Given the description of an element on the screen output the (x, y) to click on. 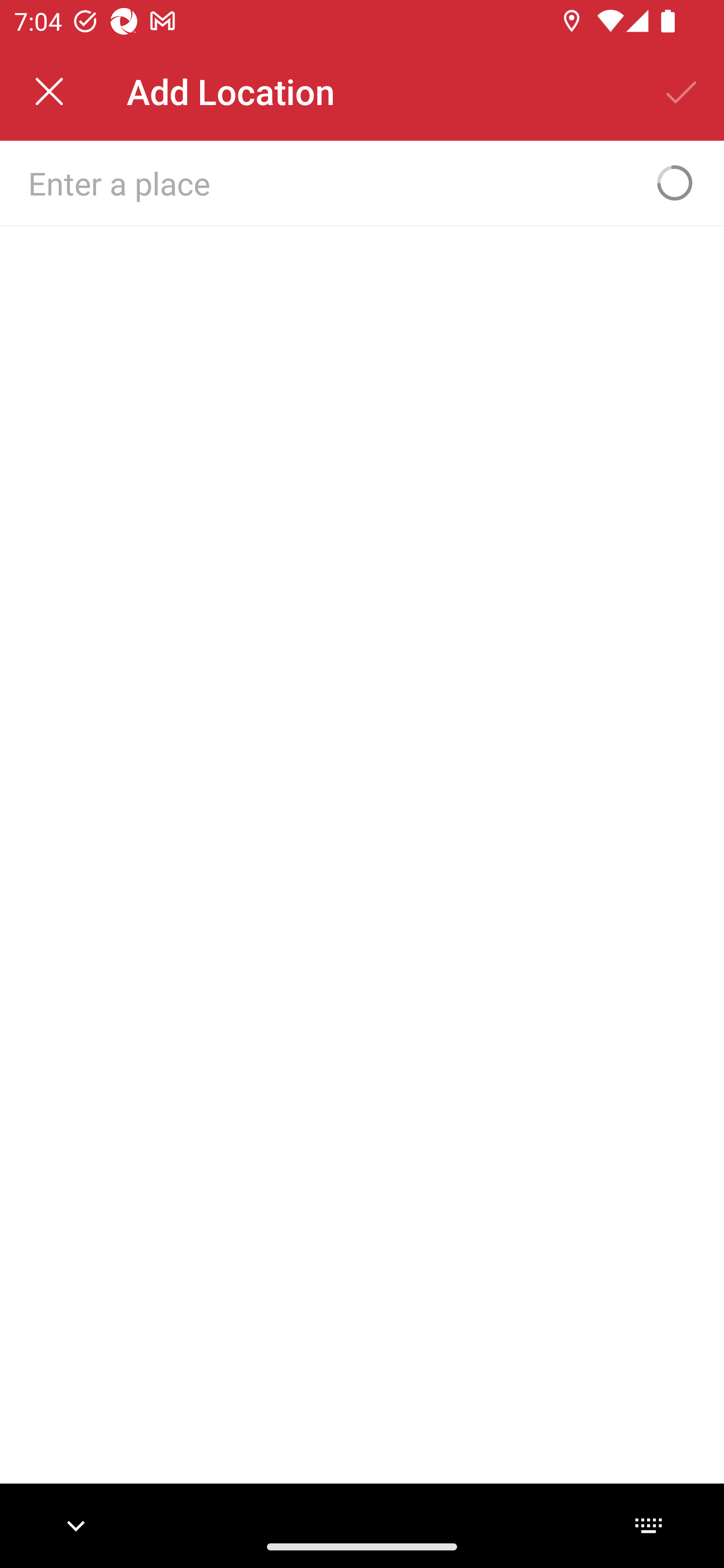
Close (49, 91)
Done (681, 91)
Enter a place (330, 182)
